Given the description of an element on the screen output the (x, y) to click on. 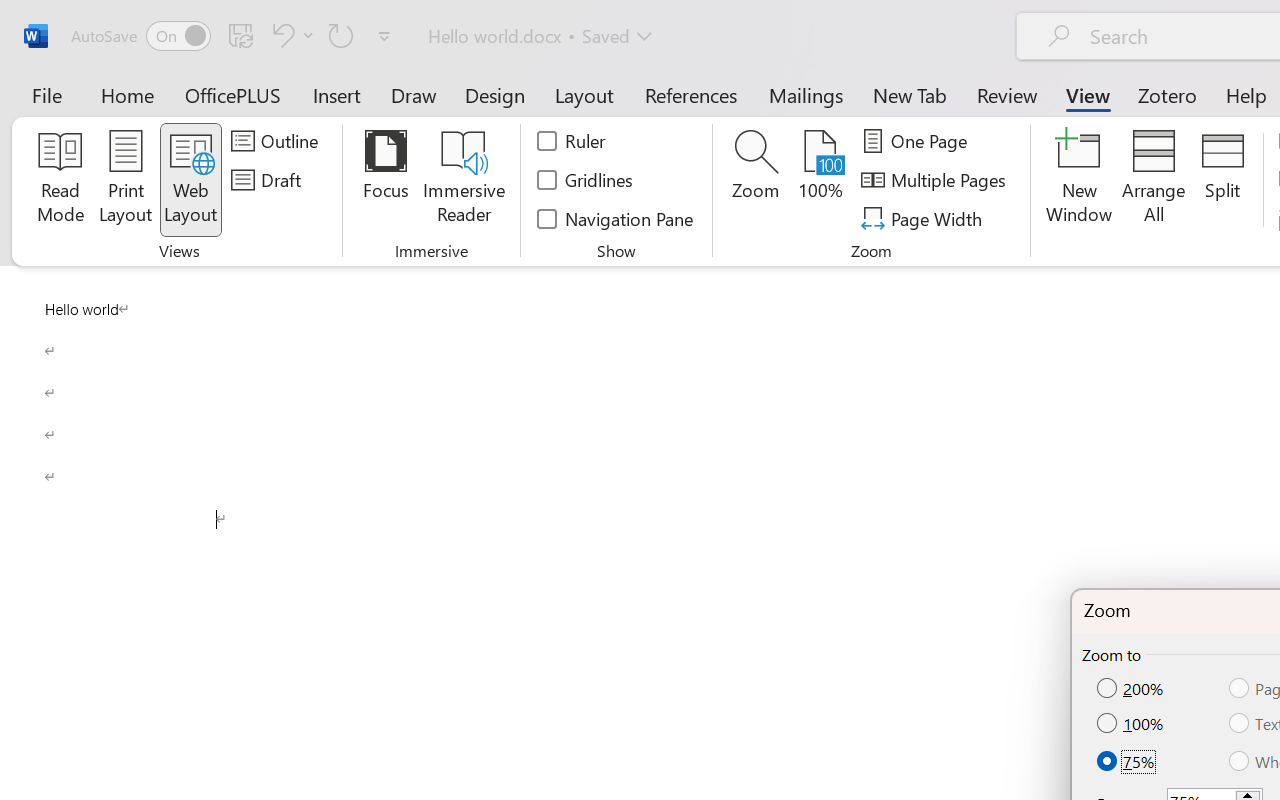
Draw (413, 94)
New Window (1079, 179)
Layout (584, 94)
75% (1127, 760)
Gridlines (586, 179)
Focus (385, 179)
One Page (917, 141)
Review (1007, 94)
Multiple Pages (936, 179)
References (690, 94)
File Tab (46, 94)
Draft (269, 179)
Print Layout (125, 179)
Zotero (1166, 94)
